Given the description of an element on the screen output the (x, y) to click on. 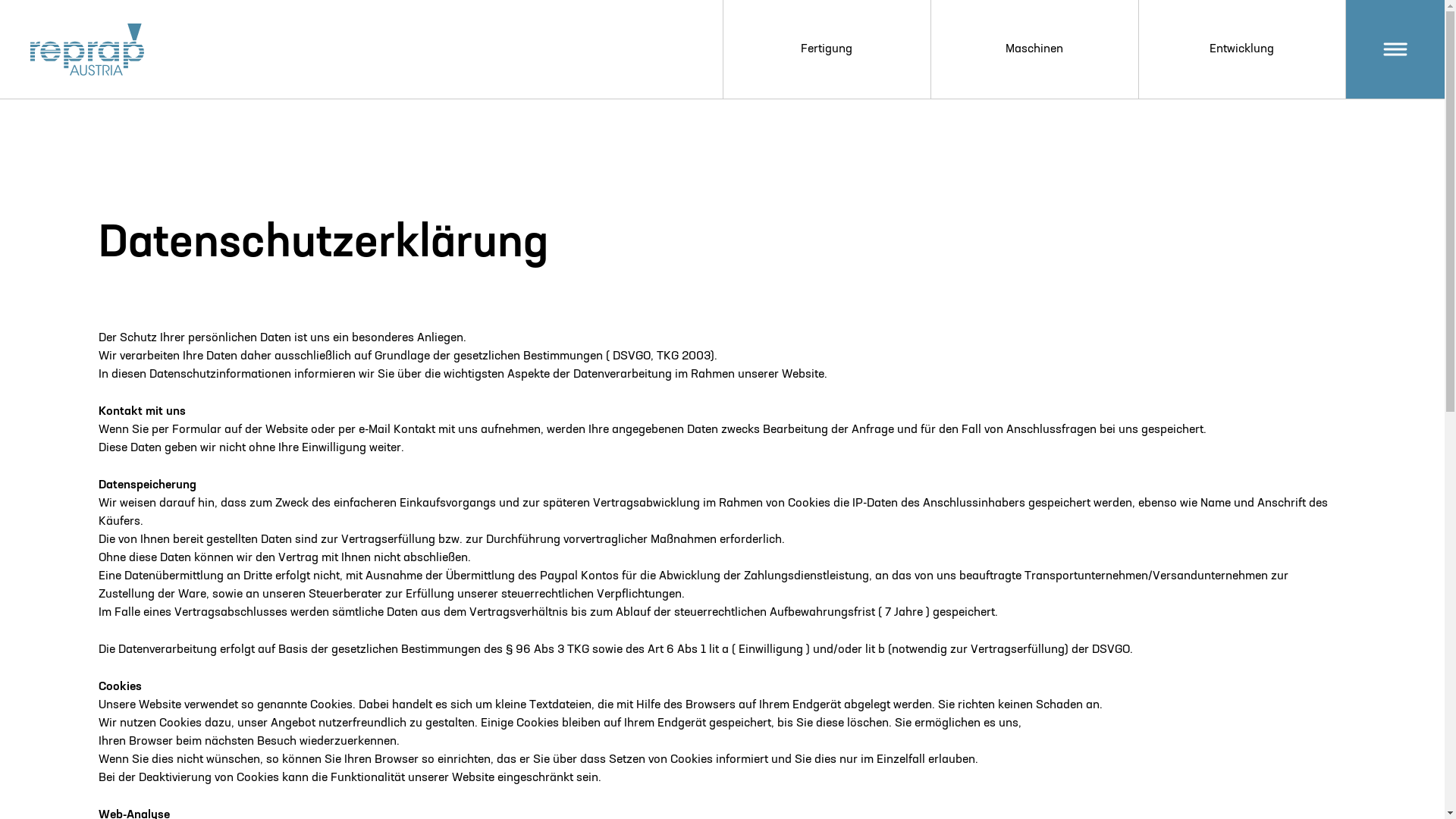
Fertigung Element type: text (825, 49)
Maschinen Element type: text (1034, 49)
Entwicklung Element type: text (1242, 49)
reprap Austria Element type: hover (87, 49)
